Given the description of an element on the screen output the (x, y) to click on. 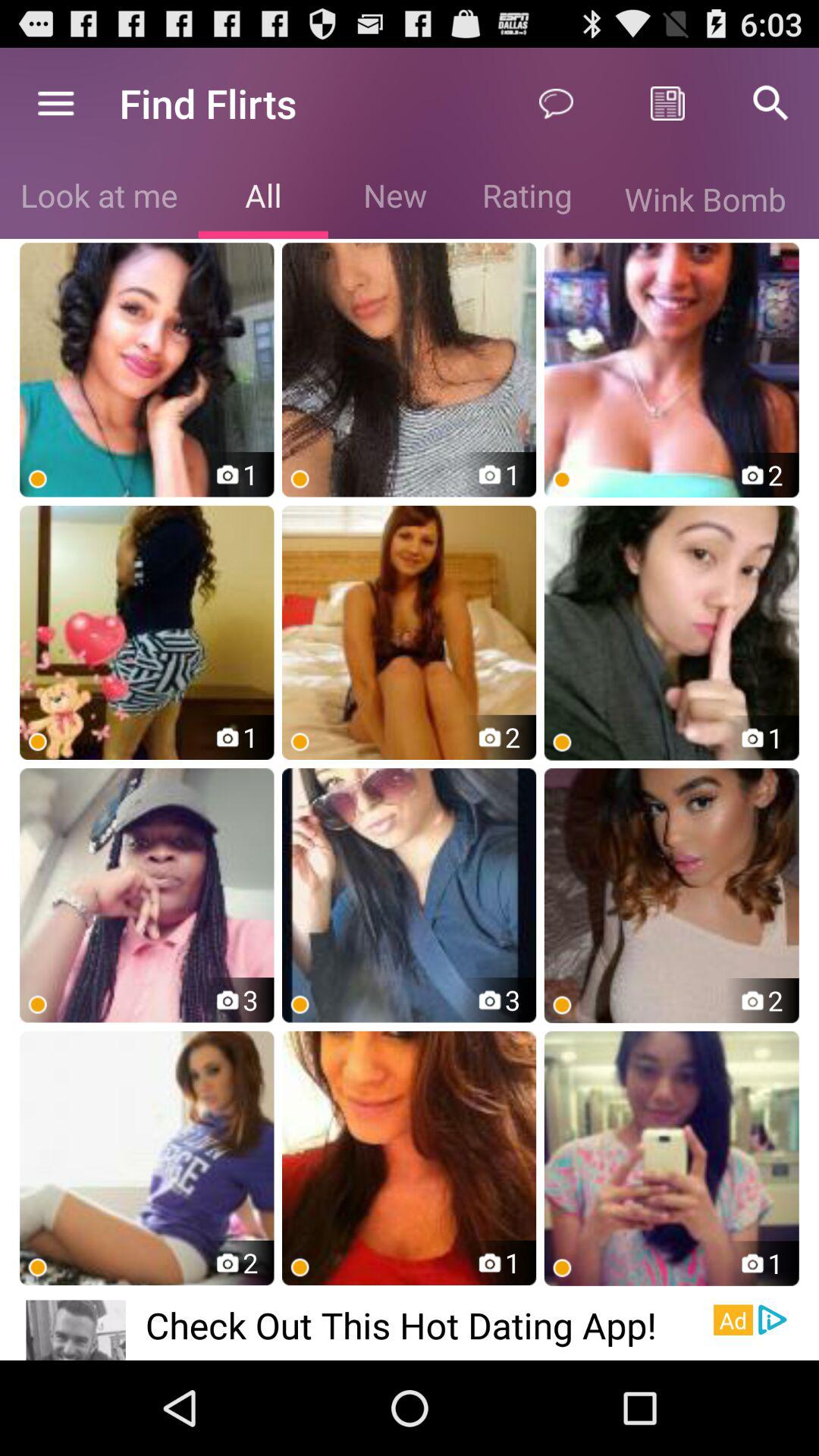
press icon above the look at me icon (55, 103)
